Given the description of an element on the screen output the (x, y) to click on. 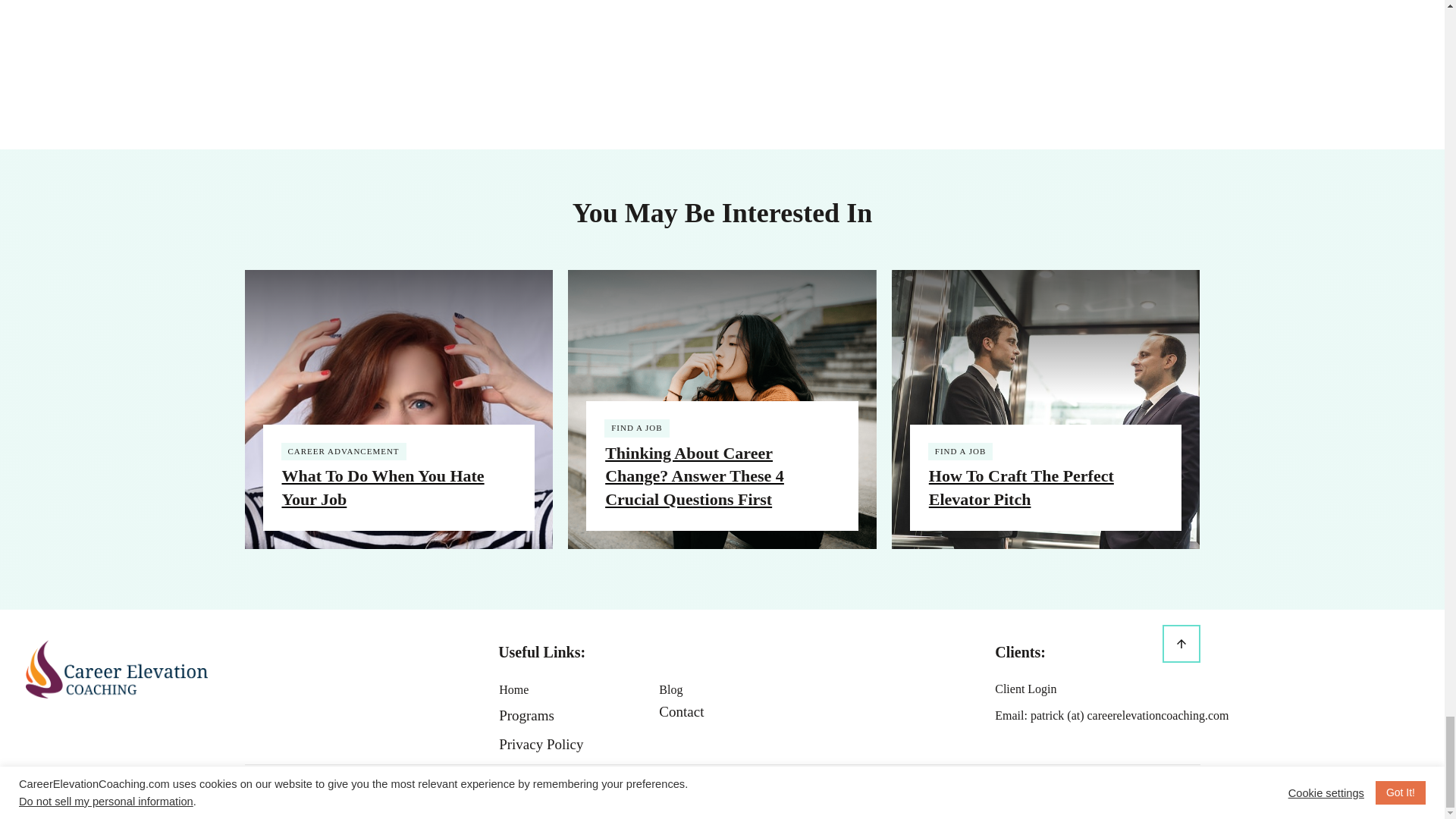
Career Advancement (343, 450)
How to Craft the Perfect Elevator Pitch (1020, 487)
What To Do When You Hate Your Job (383, 487)
Find a Job (959, 450)
Find a Job (636, 427)
